Given the description of an element on the screen output the (x, y) to click on. 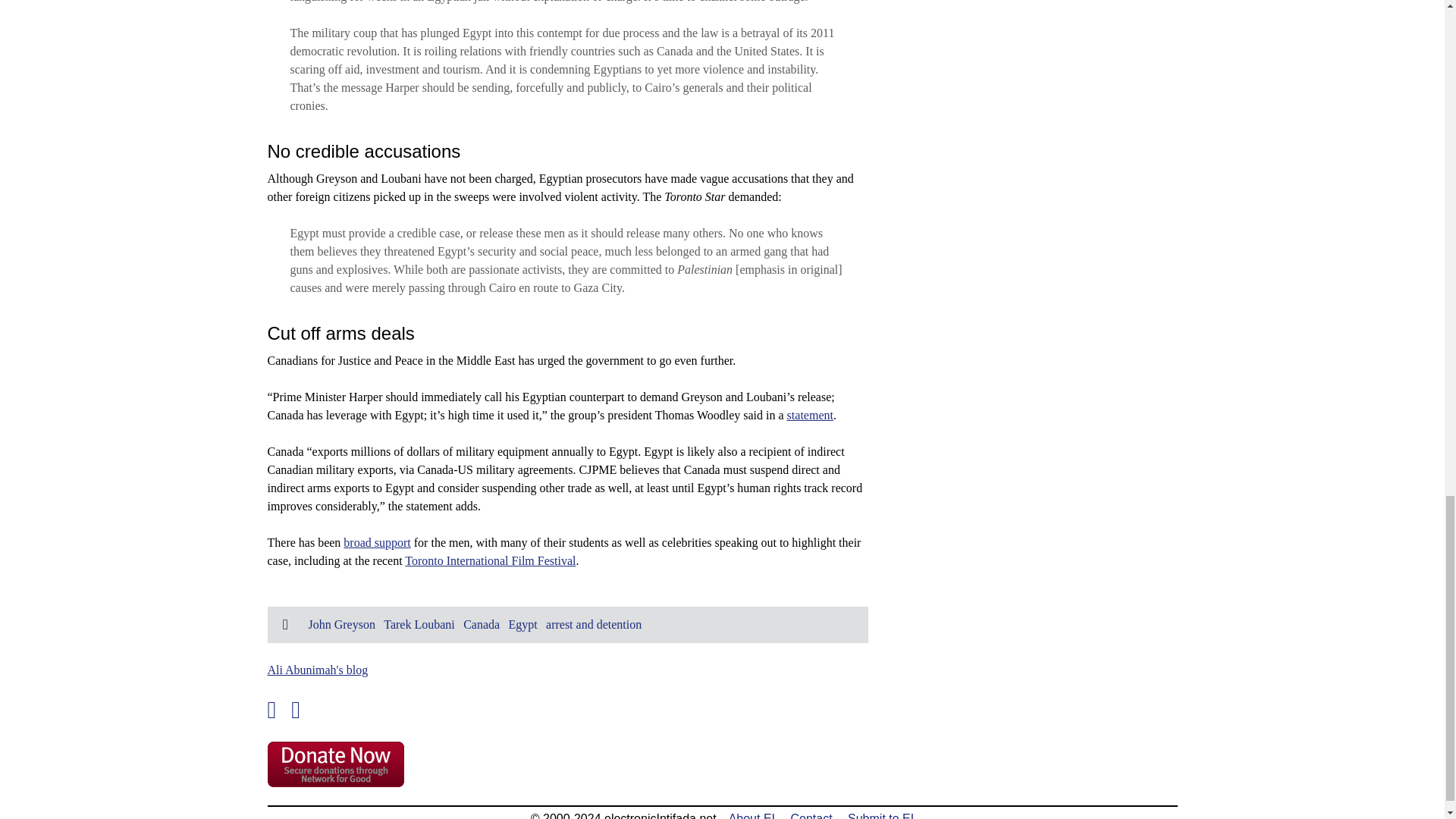
Canada (481, 624)
broad support (376, 542)
Tarek Loubani (419, 624)
John Greyson (340, 624)
Toronto International Film Festival (489, 560)
Egypt (522, 624)
statement (809, 414)
arrest and detention (594, 624)
Read Ali Abunimah's latest blog entries. (317, 669)
Ali Abunimah's blog (317, 669)
